Given the description of an element on the screen output the (x, y) to click on. 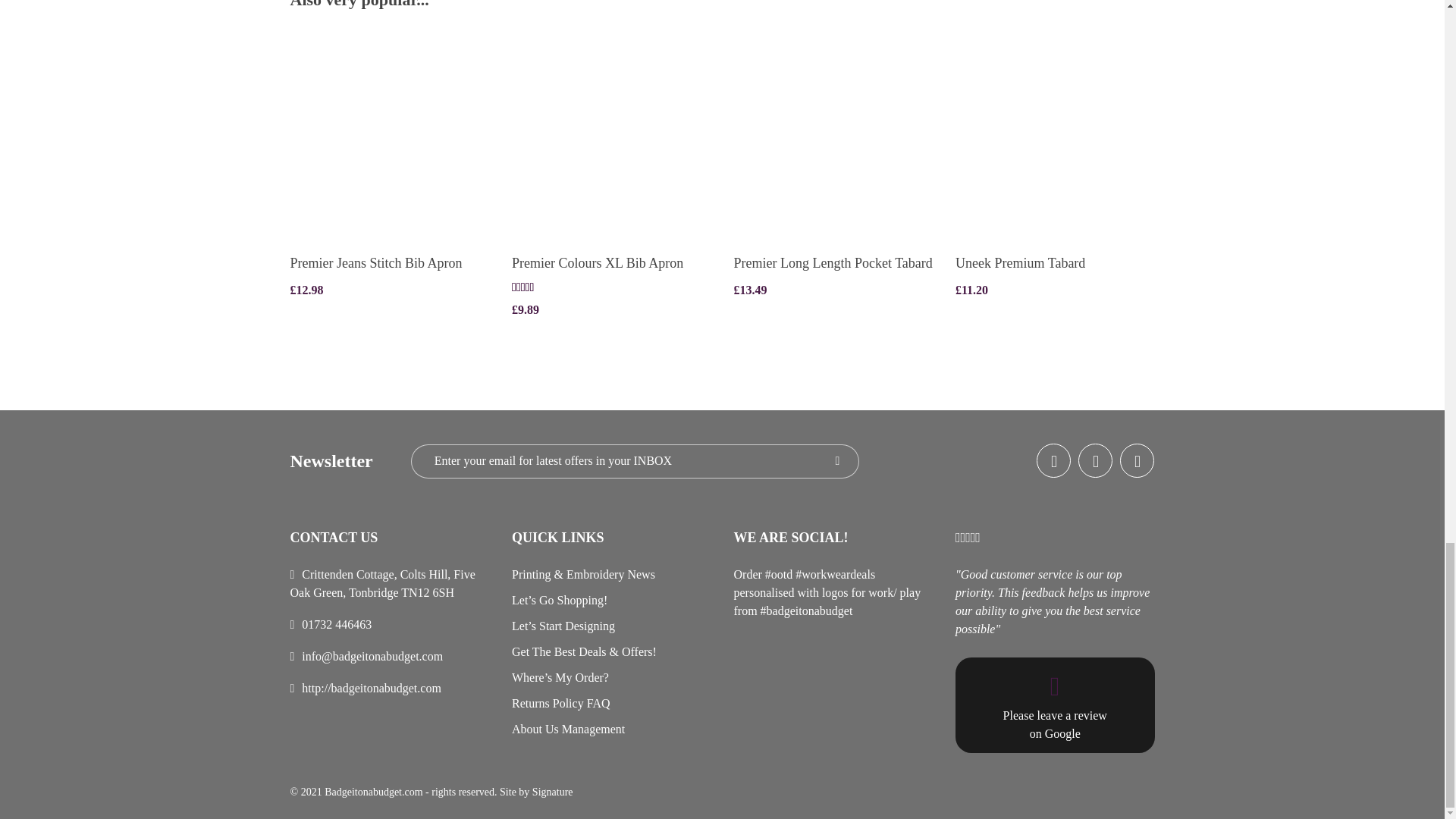
website (371, 687)
send mail (371, 656)
